Given the description of an element on the screen output the (x, y) to click on. 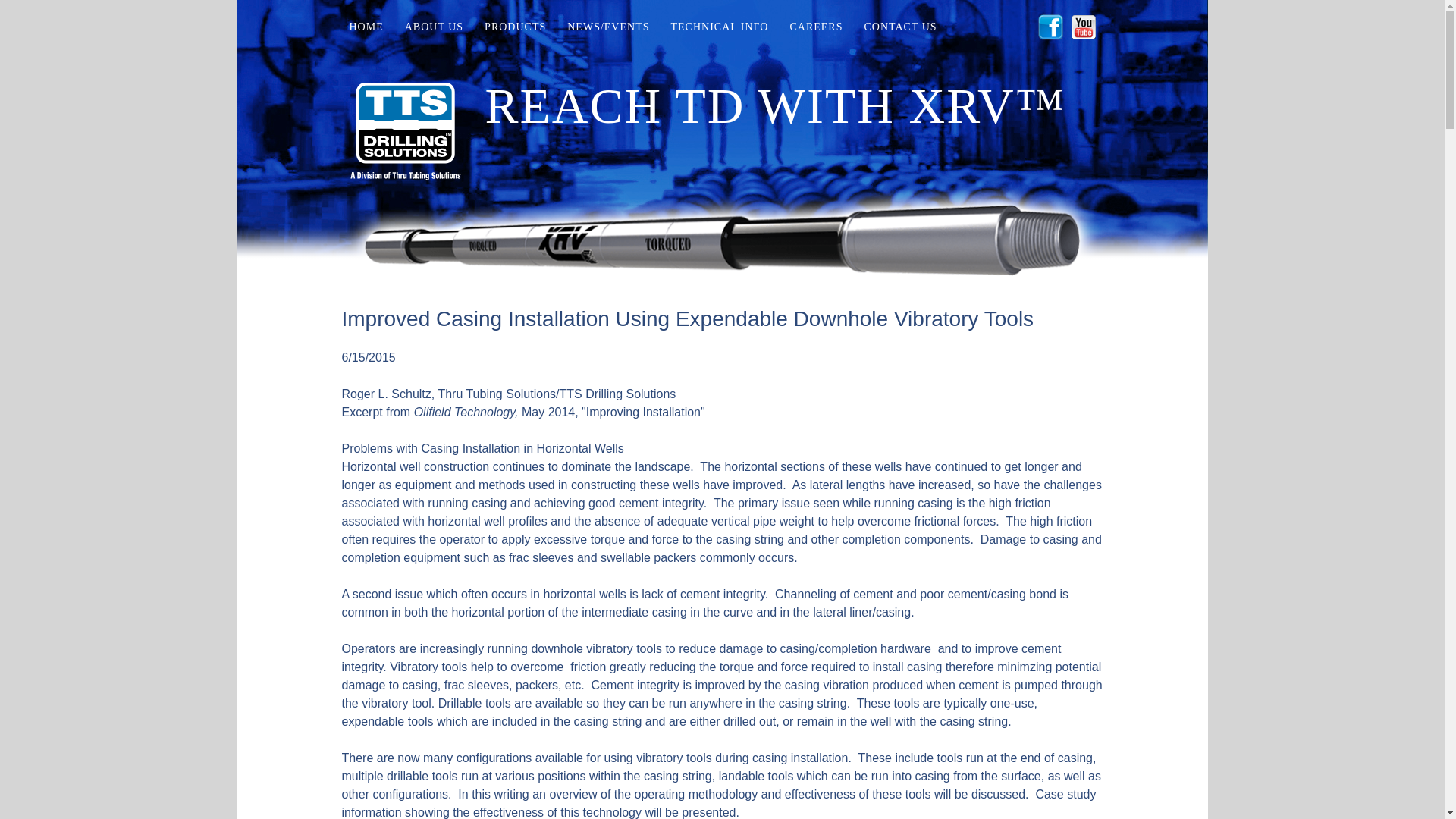
CONTACT US (899, 28)
CAREERS (816, 28)
ABOUT US (433, 28)
Youtube (1083, 27)
Facebook (1049, 27)
HOME (365, 28)
PRODUCTS (515, 28)
TECHNICAL INFO (718, 28)
